Given the description of an element on the screen output the (x, y) to click on. 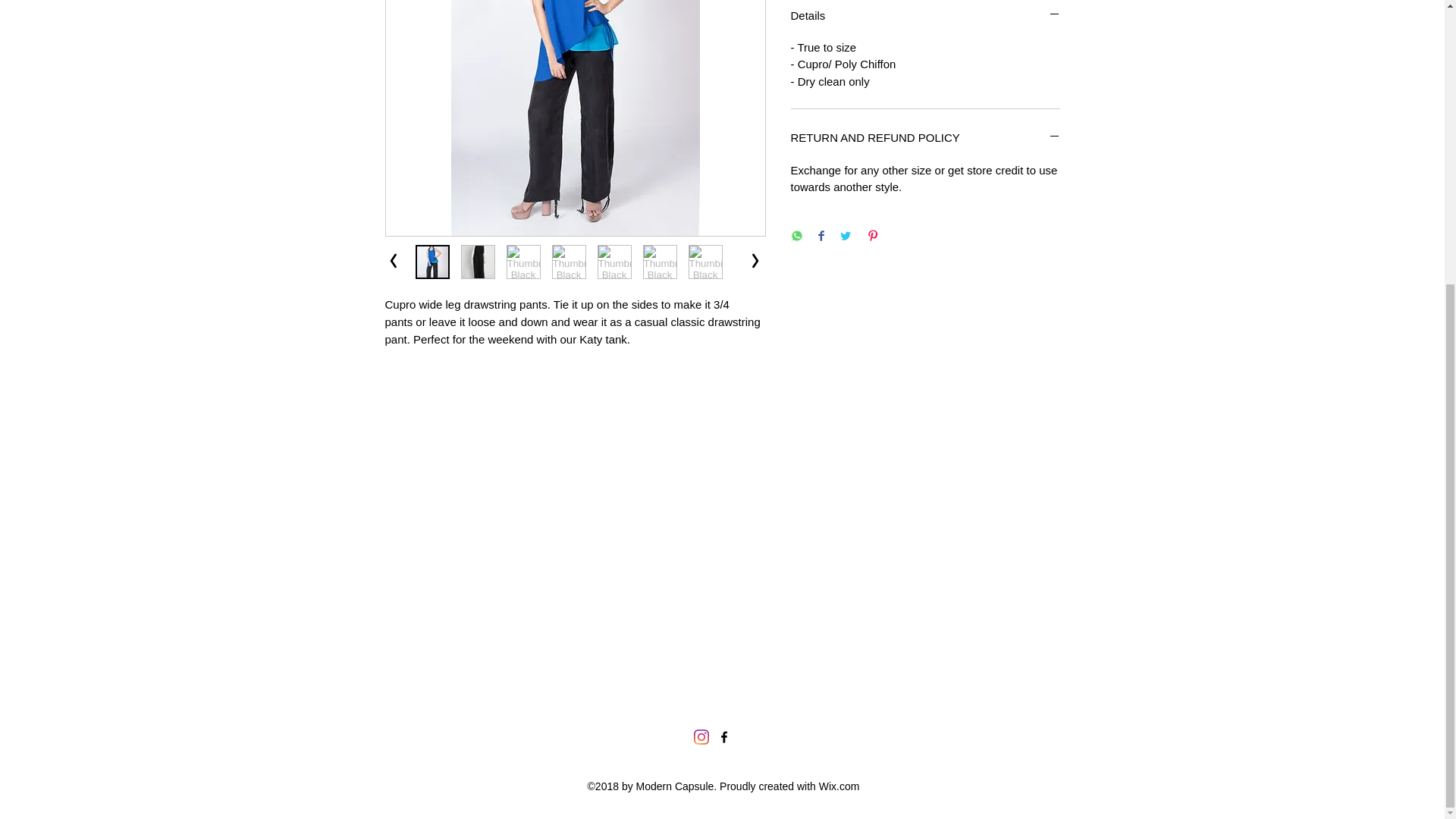
RETURN AND REFUND POLICY (924, 137)
Details (924, 15)
